Given the description of an element on the screen output the (x, y) to click on. 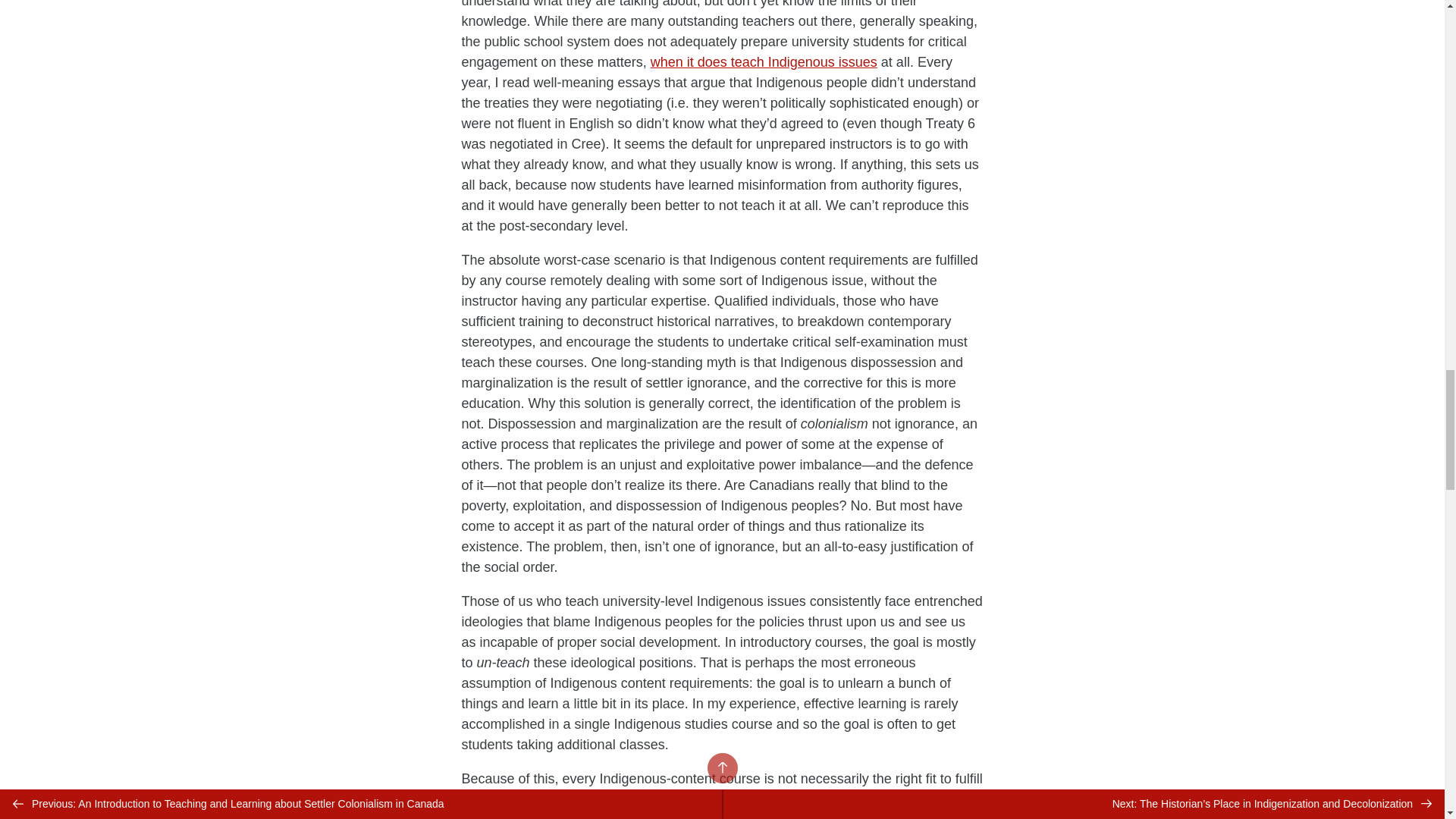
when it does teach Indigenous issues (763, 61)
